Given the description of an element on the screen output the (x, y) to click on. 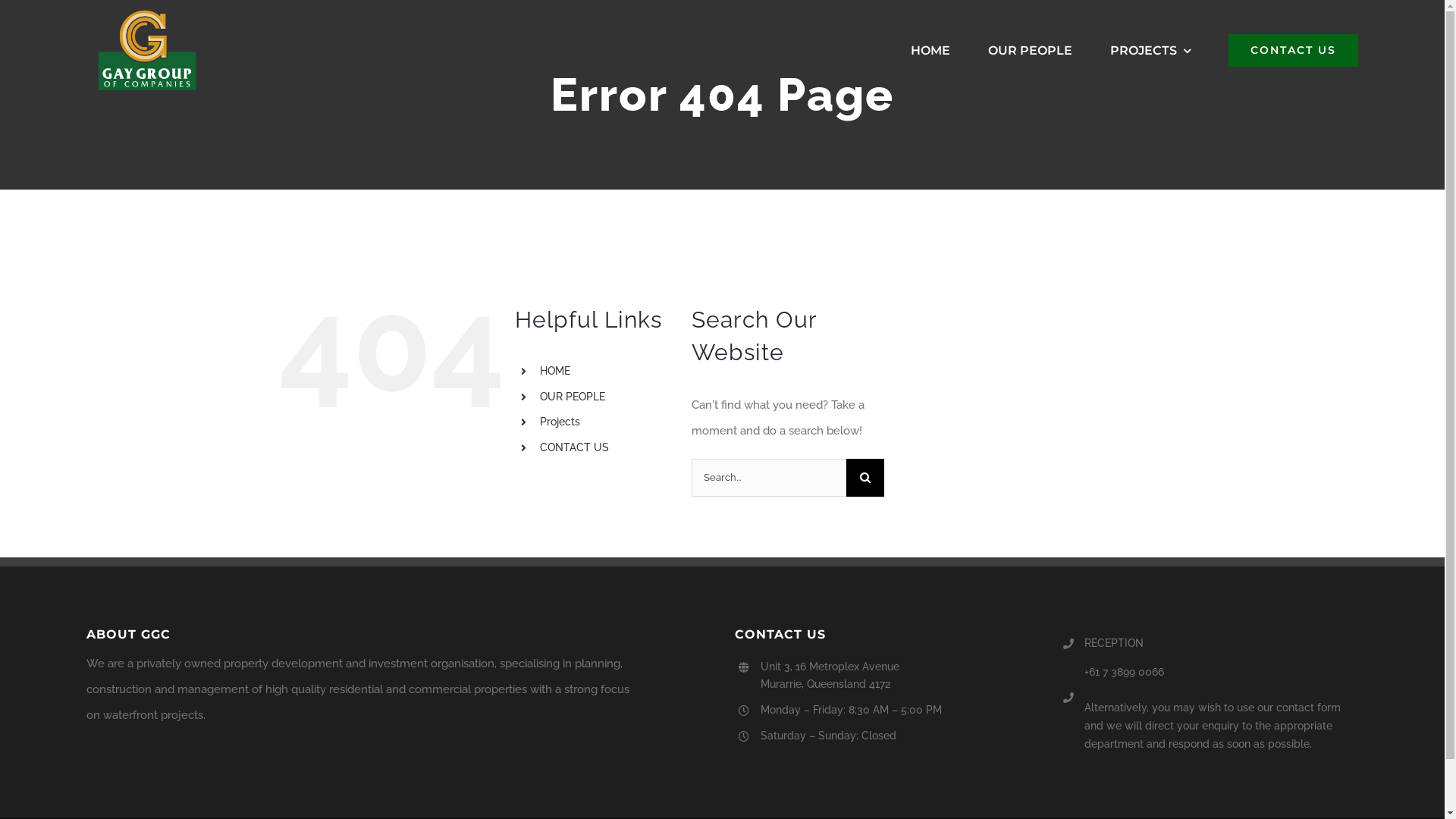
HOME Element type: text (930, 50)
Projects Element type: text (559, 421)
CONTACT US Element type: text (573, 447)
OUR PEOPLE Element type: text (1030, 50)
PROJECTS Element type: text (1150, 50)
OUR PEOPLE Element type: text (572, 396)
HOME Element type: text (554, 370)
CONTACT US Element type: text (1293, 50)
